Given the description of an element on the screen output the (x, y) to click on. 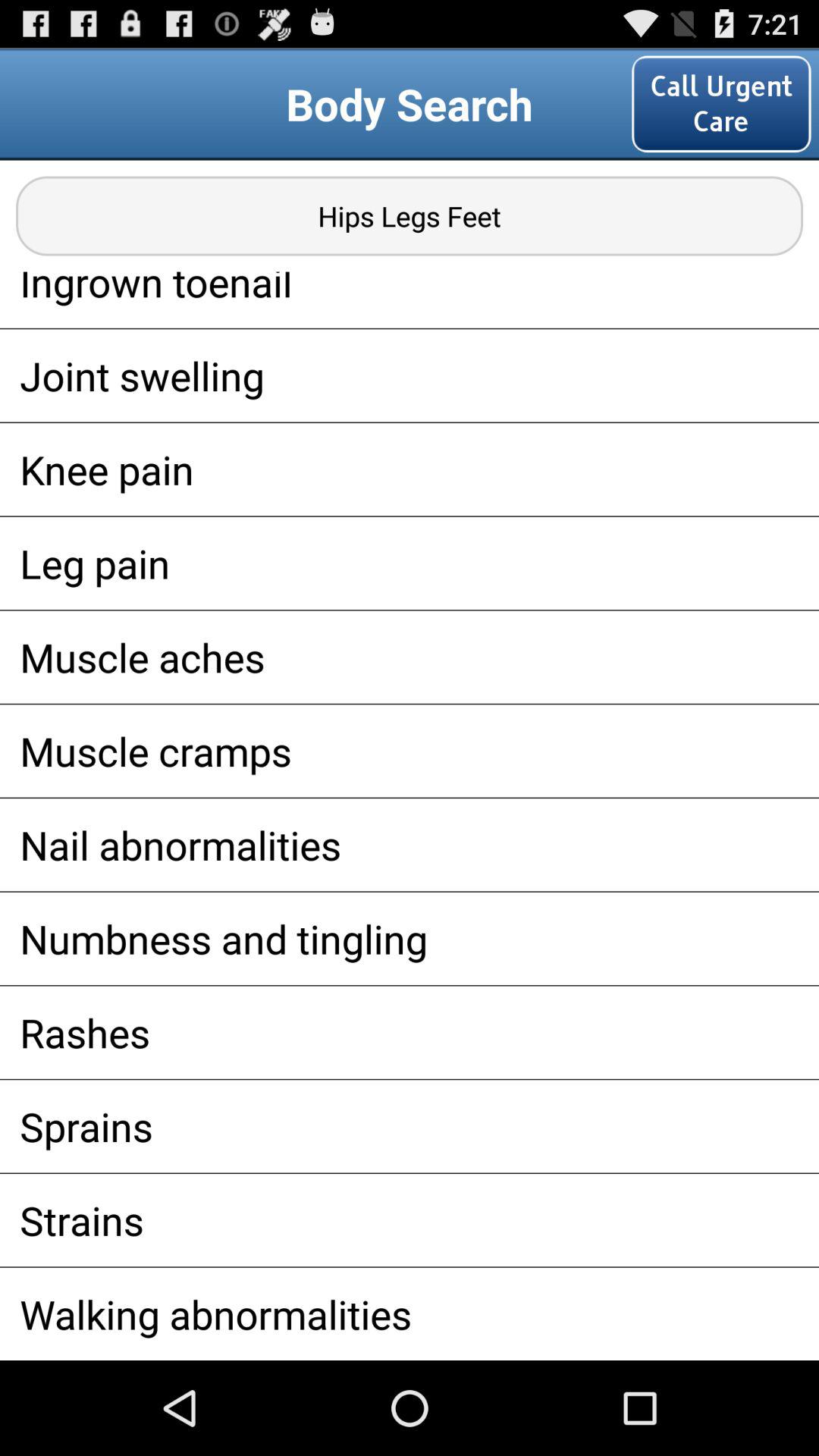
click strains (409, 1219)
